Given the description of an element on the screen output the (x, y) to click on. 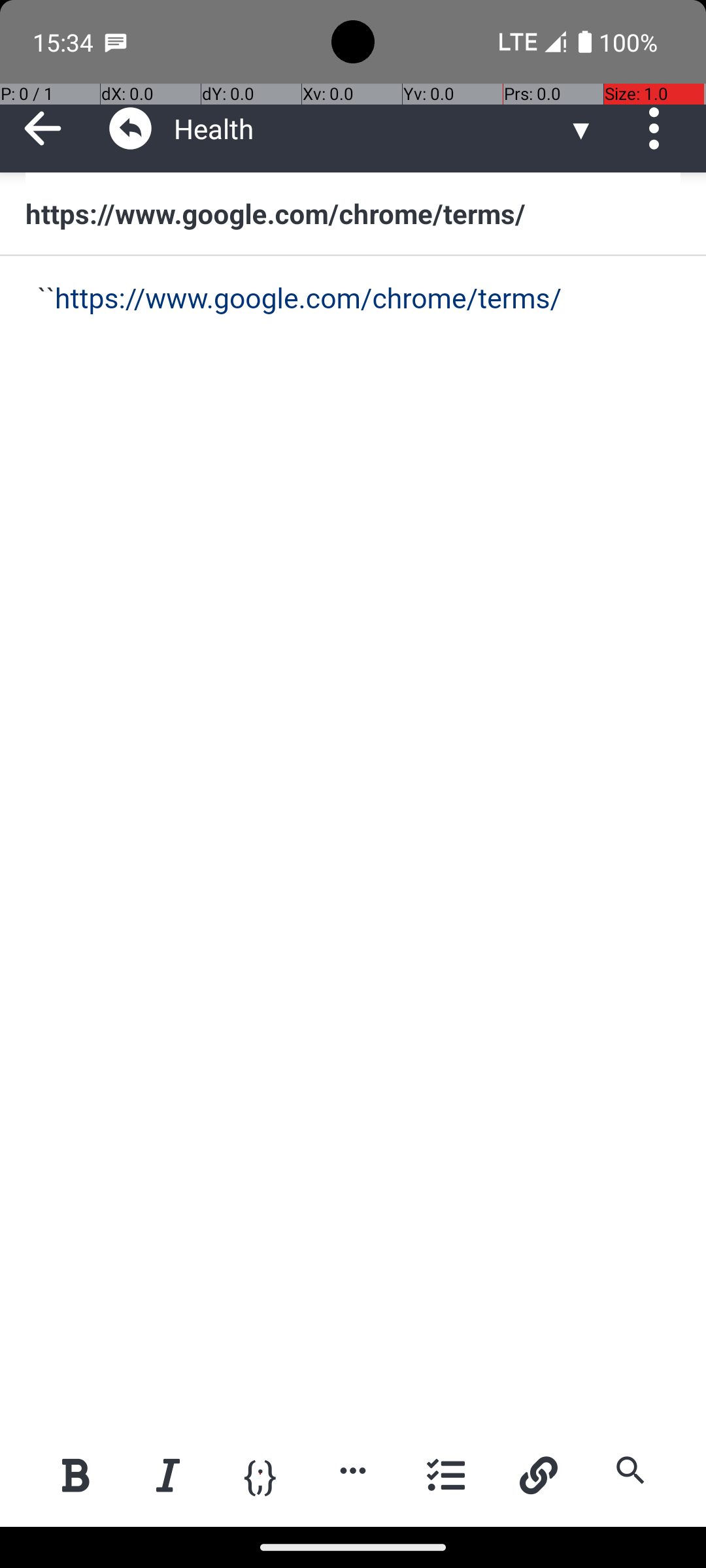
 Element type: android.widget.TextView (130, 127)
SMS Messenger notification: +15505050843 Element type: android.widget.ImageView (115, 41)
